Given the description of an element on the screen output the (x, y) to click on. 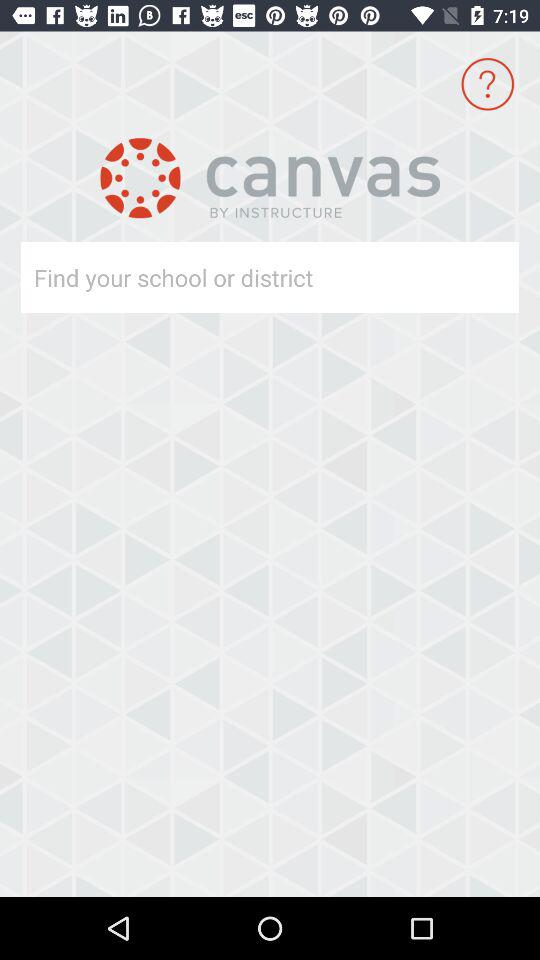
search bar (234, 277)
